Given the description of an element on the screen output the (x, y) to click on. 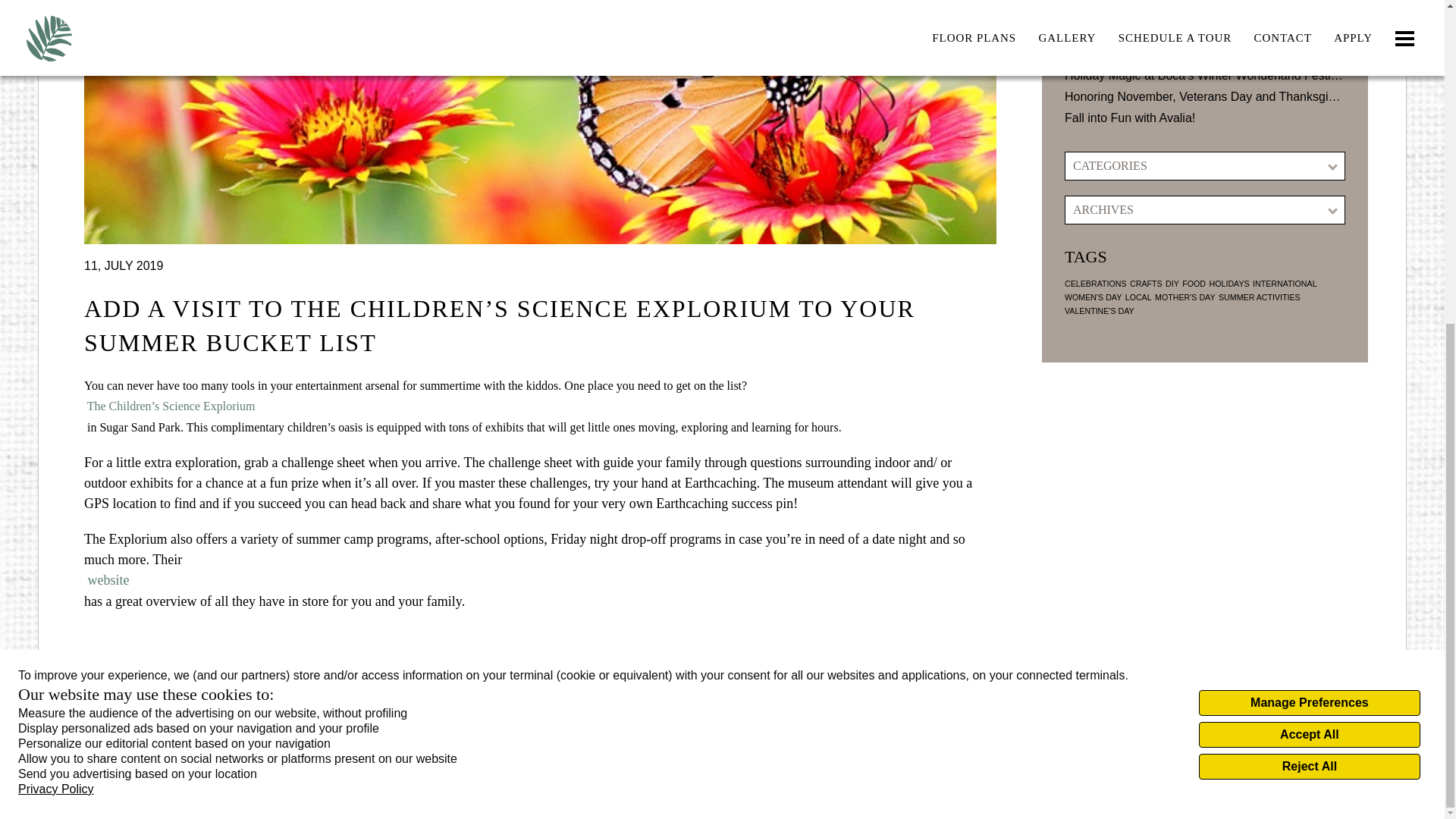
Accept All (1309, 206)
Reject All (1309, 237)
Privacy Policy (55, 261)
Manage Preferences (1309, 174)
Fall into Fun with Avalia! (1204, 118)
Honoring November, Veterans Day and Thanksgiving with Avalia (1204, 97)
 website (539, 580)
